Given the description of an element on the screen output the (x, y) to click on. 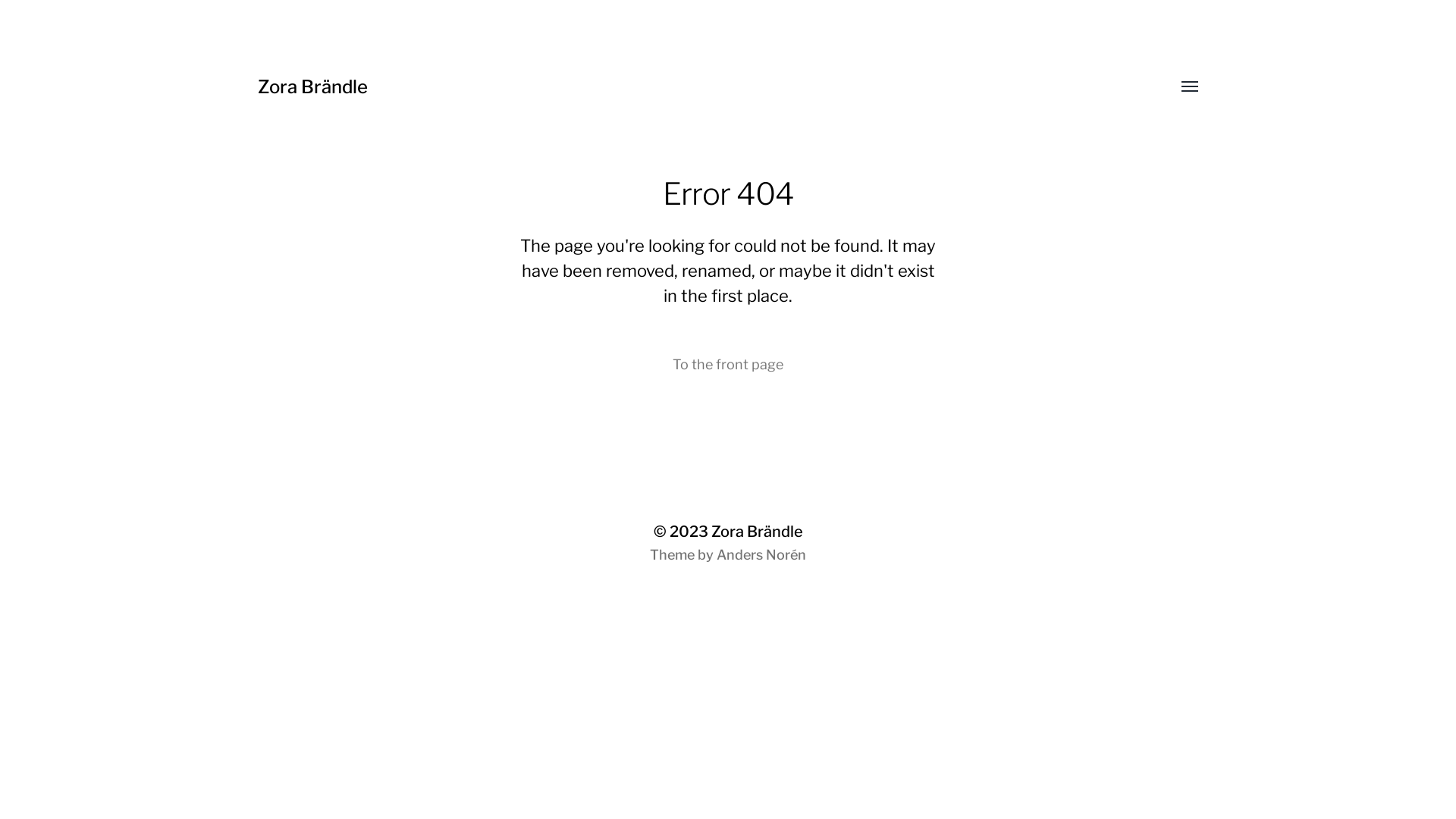
Toggle menu Element type: text (1179, 86)
To the front page Element type: text (727, 364)
